Given the description of an element on the screen output the (x, y) to click on. 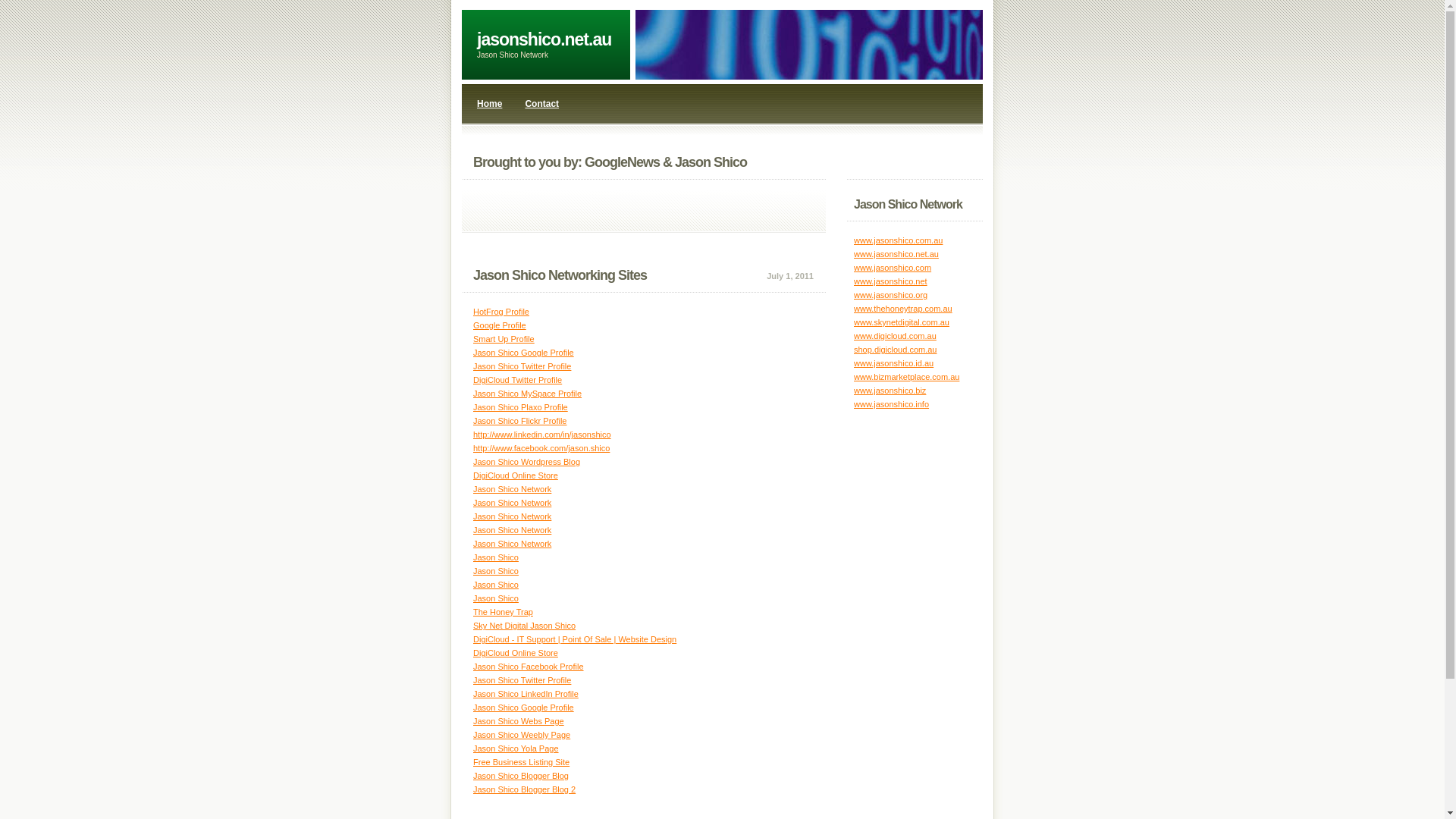
www.skynetdigital.com.au Element type: text (901, 321)
www.jasonshico.net.au Element type: text (895, 253)
Jason Shico Twitter Profile Element type: text (522, 365)
www.thehoneytrap.com.au Element type: text (902, 308)
www.jasonshico.info Element type: text (890, 403)
Jason Shico Yola Page Element type: text (515, 748)
Free Business Listing Site Element type: text (521, 761)
Jason Shico Element type: text (495, 556)
Jason Shico Blogger Blog Element type: text (520, 775)
DigiCloud Online Store Element type: text (515, 652)
Home Element type: text (489, 103)
Jason Shico MySpace Profile Element type: text (527, 393)
www.bizmarketplace.com.au Element type: text (906, 376)
Jason Shico Element type: text (495, 570)
The Honey Trap Element type: text (503, 611)
www.jasonshico.net Element type: text (890, 280)
Jason Shico LinkedIn Profile Element type: text (525, 693)
Jason Shico Twitter Profile Element type: text (522, 679)
Jason Shico Weebly Page Element type: text (521, 734)
Jason Shico Network Element type: text (512, 515)
Jason Shico Plaxo Profile Element type: text (520, 406)
Jason Shico Network Element type: text (512, 488)
DigiCloud - IT Support | Point Of Sale | Website Design Element type: text (574, 638)
www.jasonshico.com.au Element type: text (897, 239)
Jason Shico Webs Page Element type: text (518, 720)
Jason Shico Element type: text (495, 584)
DigiCloud Online Store Element type: text (515, 475)
HotFrog Profile Element type: text (501, 311)
Jason Shico Network Element type: text (512, 529)
Jason Shico Blogger Blog 2 Element type: text (524, 788)
http://www.facebook.com/jason.shico Element type: text (541, 447)
Jason Shico Network Element type: text (512, 502)
Sky Net Digital Jason Shico Element type: text (524, 625)
www.jasonshico.biz Element type: text (889, 390)
Contact Element type: text (541, 103)
DigiCloud Twitter Profile Element type: text (517, 379)
Jason Shico Element type: text (495, 597)
Jason Shico Network Element type: text (512, 543)
Jason Shico Google Profile Element type: text (523, 352)
www.jasonshico.com Element type: text (892, 267)
http://www.linkedin.com/in/jasonshico Element type: text (542, 434)
www.jasonshico.org Element type: text (890, 294)
Smart Up Profile Element type: text (503, 338)
Jason Shico Google Profile Element type: text (523, 707)
Jason Shico Facebook Profile Element type: text (528, 666)
www.digicloud.com.au Element type: text (894, 335)
Jason Shico Wordpress Blog Element type: text (526, 461)
shop.digicloud.com.au Element type: text (894, 349)
Jason Shico Flickr Profile Element type: text (520, 420)
www.jasonshico.id.au Element type: text (893, 362)
Google Profile Element type: text (499, 324)
